Given the description of an element on the screen output the (x, y) to click on. 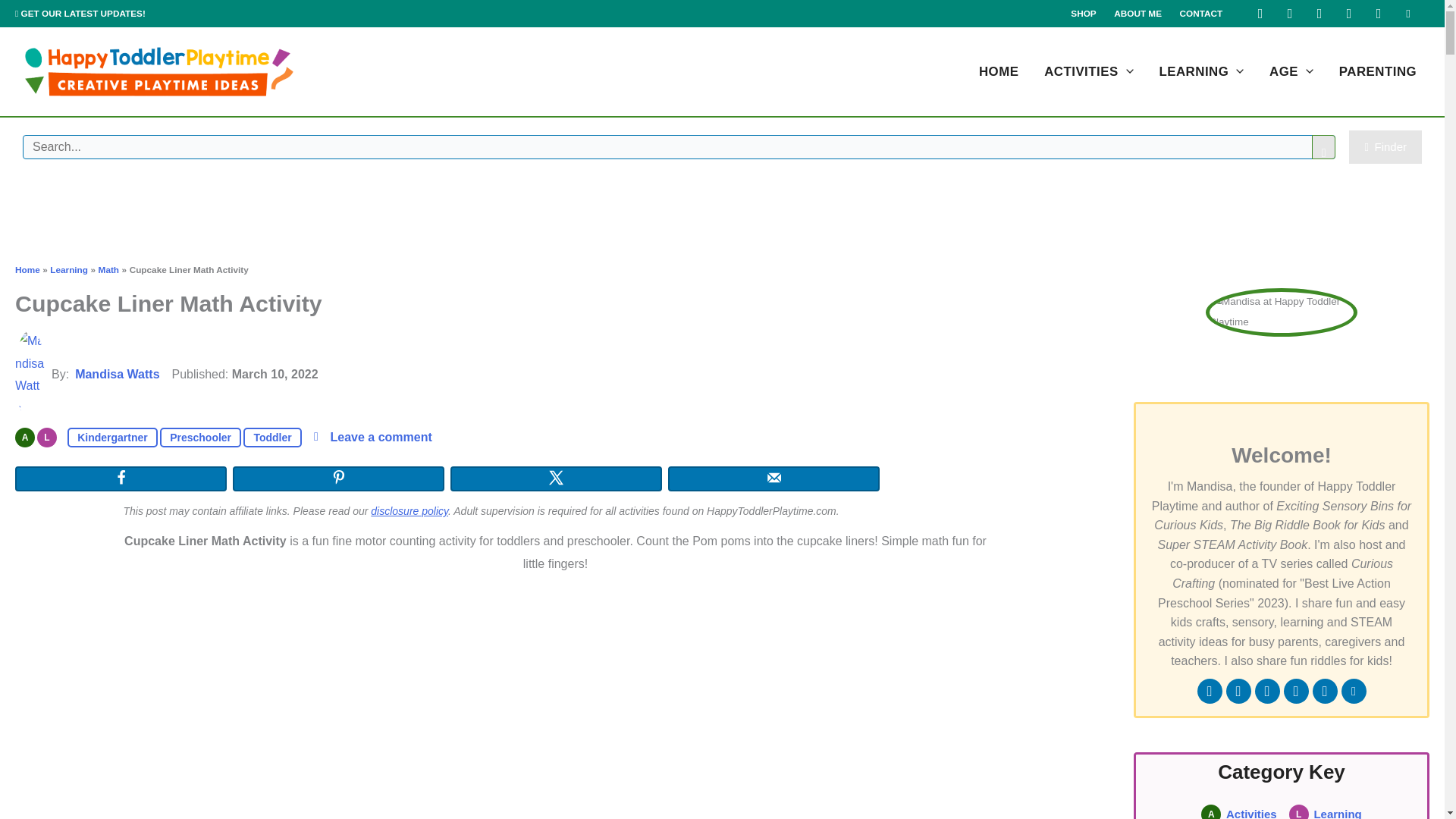
AGE (1291, 70)
Pinterest (1319, 13)
HOME (998, 70)
Instagram (1289, 13)
ACTIVITIES (1087, 70)
Etsy (1408, 13)
Facebook (1260, 13)
Search (1323, 146)
Tiktok (1348, 13)
SHOP (1083, 13)
LEARNING (1202, 70)
Activities (24, 437)
Finder (1385, 146)
ABOUT ME (1137, 13)
CONTACT (1200, 13)
